Given the description of an element on the screen output the (x, y) to click on. 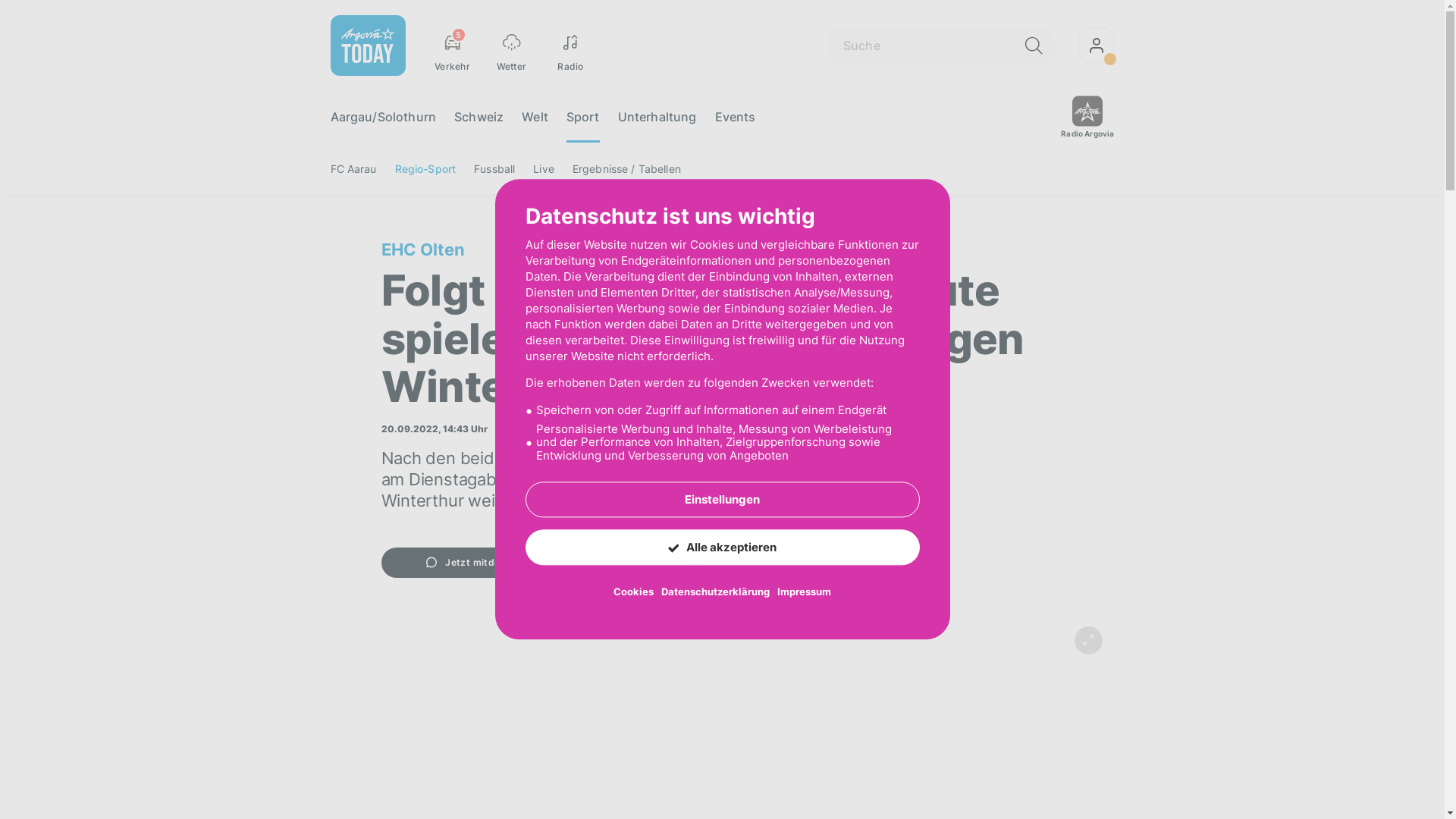
Live Element type: text (543, 168)
Events Element type: text (735, 116)
Radio Argovia Element type: text (1086, 116)
FC Aarau Element type: text (353, 168)
Alle akzeptieren Element type: text (721, 547)
Impressum Element type: text (803, 591)
Cookies Element type: text (633, 591)
Einstellungen Element type: text (721, 499)
Regio-Sport Element type: text (425, 168)
Schweiz Element type: text (478, 116)
Aargau/Solothurn Element type: text (383, 116)
5
Verkehr Element type: text (452, 45)
Sport Element type: text (582, 116)
Fussball Element type: text (493, 168)
Ergebnisse / Tabellen Element type: text (626, 168)
Unterhaltung Element type: text (657, 116)
Welt Element type: text (534, 116)
Wetter Element type: text (511, 45)
